Given the description of an element on the screen output the (x, y) to click on. 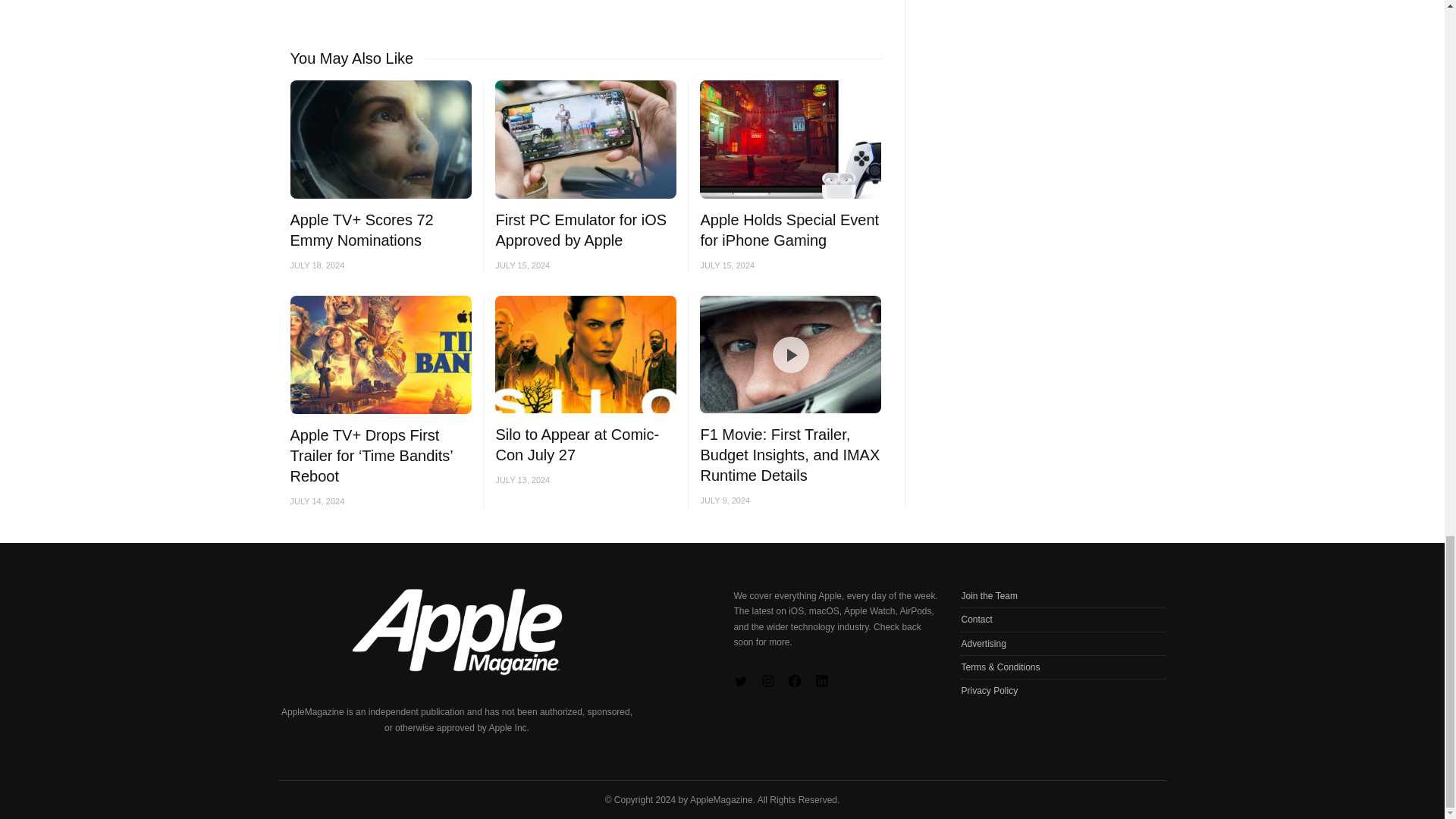
First PC Emulator for iOS Approved by Apple (580, 229)
